Given the description of an element on the screen output the (x, y) to click on. 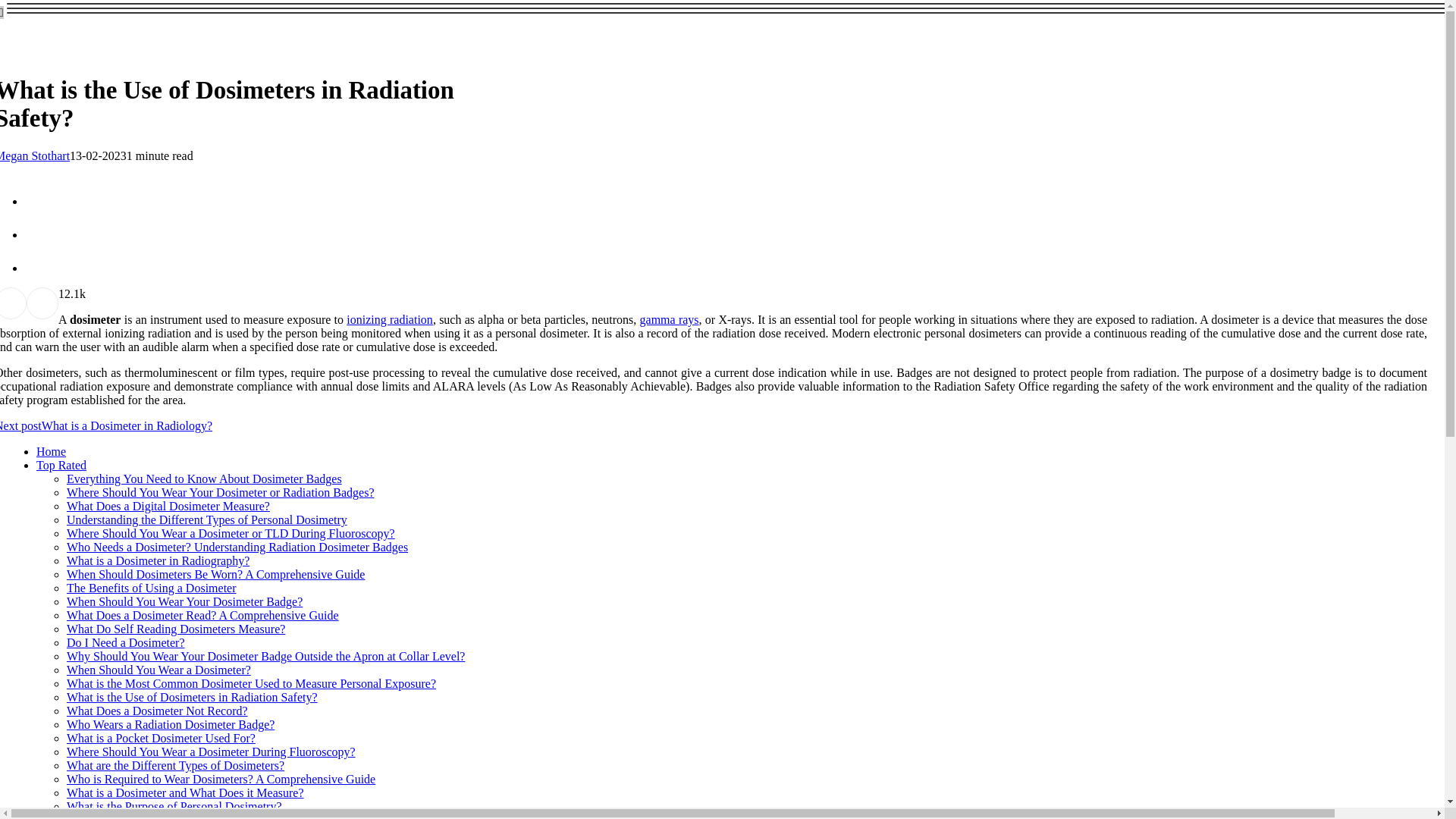
What Do Self Reading Dosimeters Measure? (175, 628)
Posts by Megan Stothart (34, 155)
Who Wears a Radiation Dosimeter Badge? (170, 724)
What is a Dosimeter and What Does it Measure? (185, 792)
What is a Dosimeter in Radiography? (157, 560)
Next postWhat is a Dosimeter in Radiology? (106, 425)
Understanding the Different Types of Personal Dosimetry (206, 519)
ionizing radiation (389, 318)
Everything You Need to Know About Dosimeter Badges (204, 478)
What Does a Dosimeter Read? A Comprehensive Guide (202, 615)
